Given the description of an element on the screen output the (x, y) to click on. 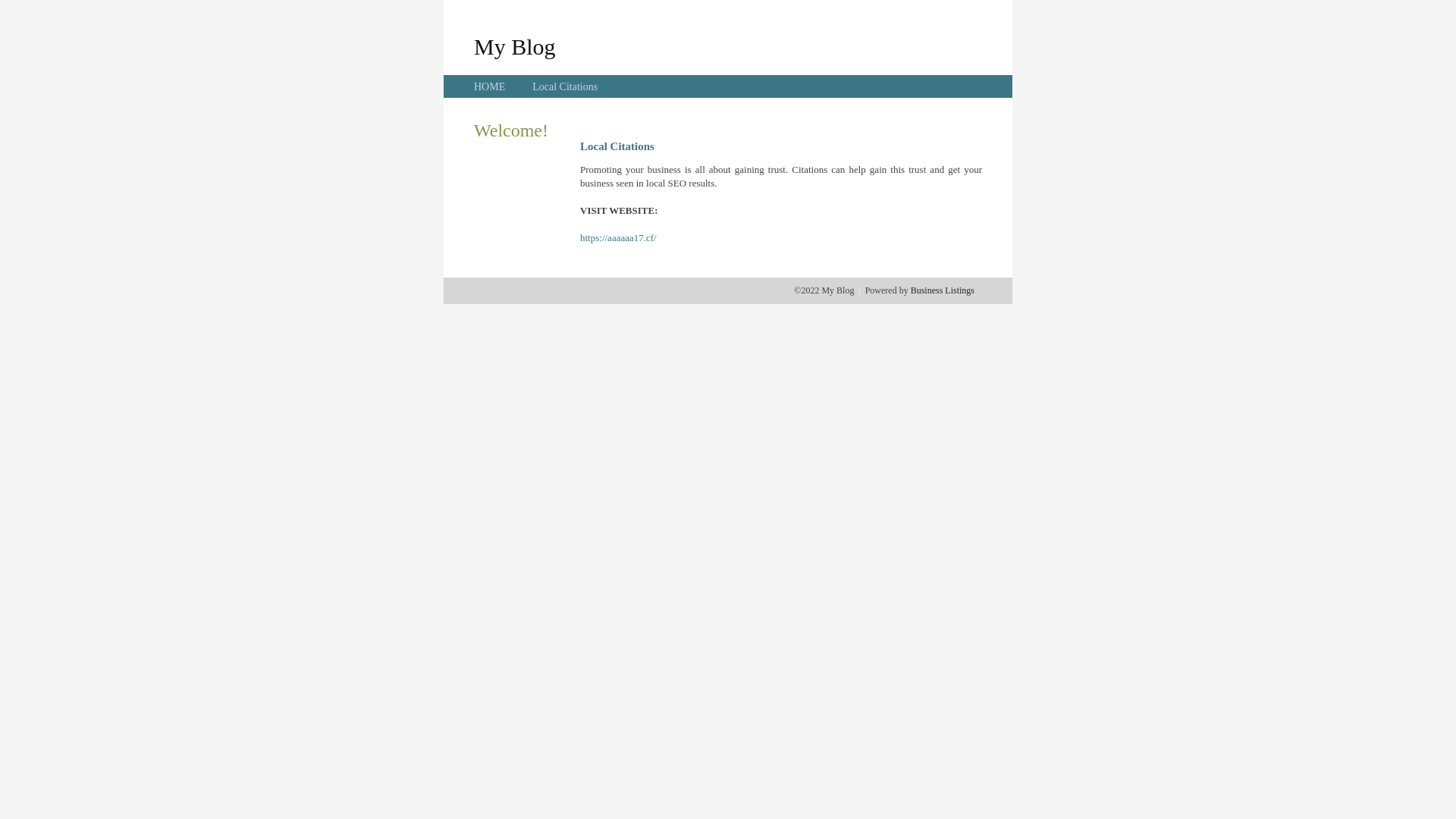
My Blog Element type: text (514, 46)
Local Citations Element type: text (564, 86)
Business Listings Element type: text (942, 290)
https://aaaaaa17.cf/ Element type: text (618, 237)
HOME Element type: text (489, 86)
